Given the description of an element on the screen output the (x, y) to click on. 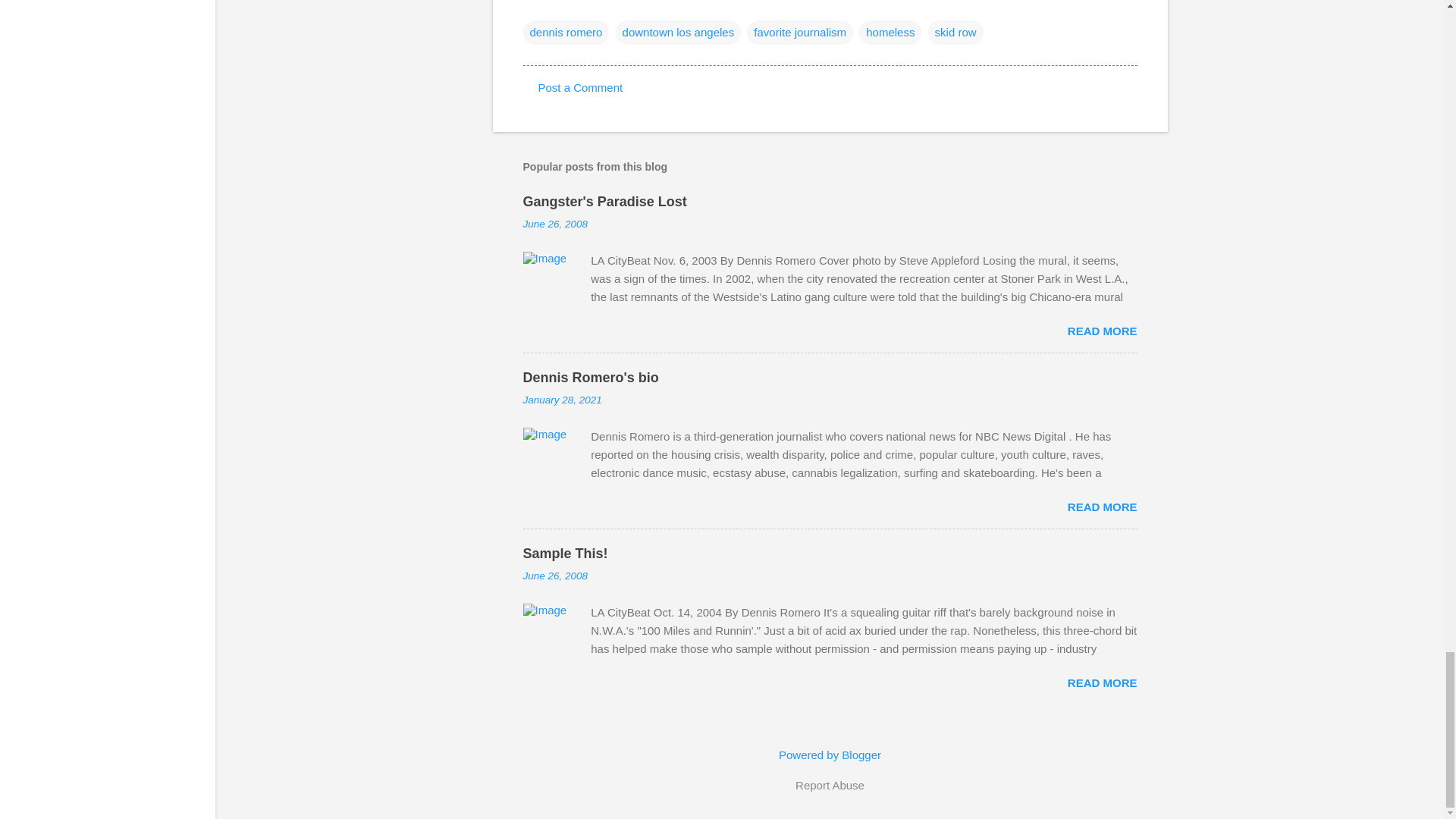
Post a Comment (580, 87)
June 26, 2008 (555, 575)
permanent link (555, 224)
Powered by Blogger (829, 754)
January 28, 2021 (562, 399)
favorite journalism (799, 32)
READ MORE (1102, 506)
skid row (956, 32)
downtown los angeles (678, 32)
dennis romero (566, 32)
